Given the description of an element on the screen output the (x, y) to click on. 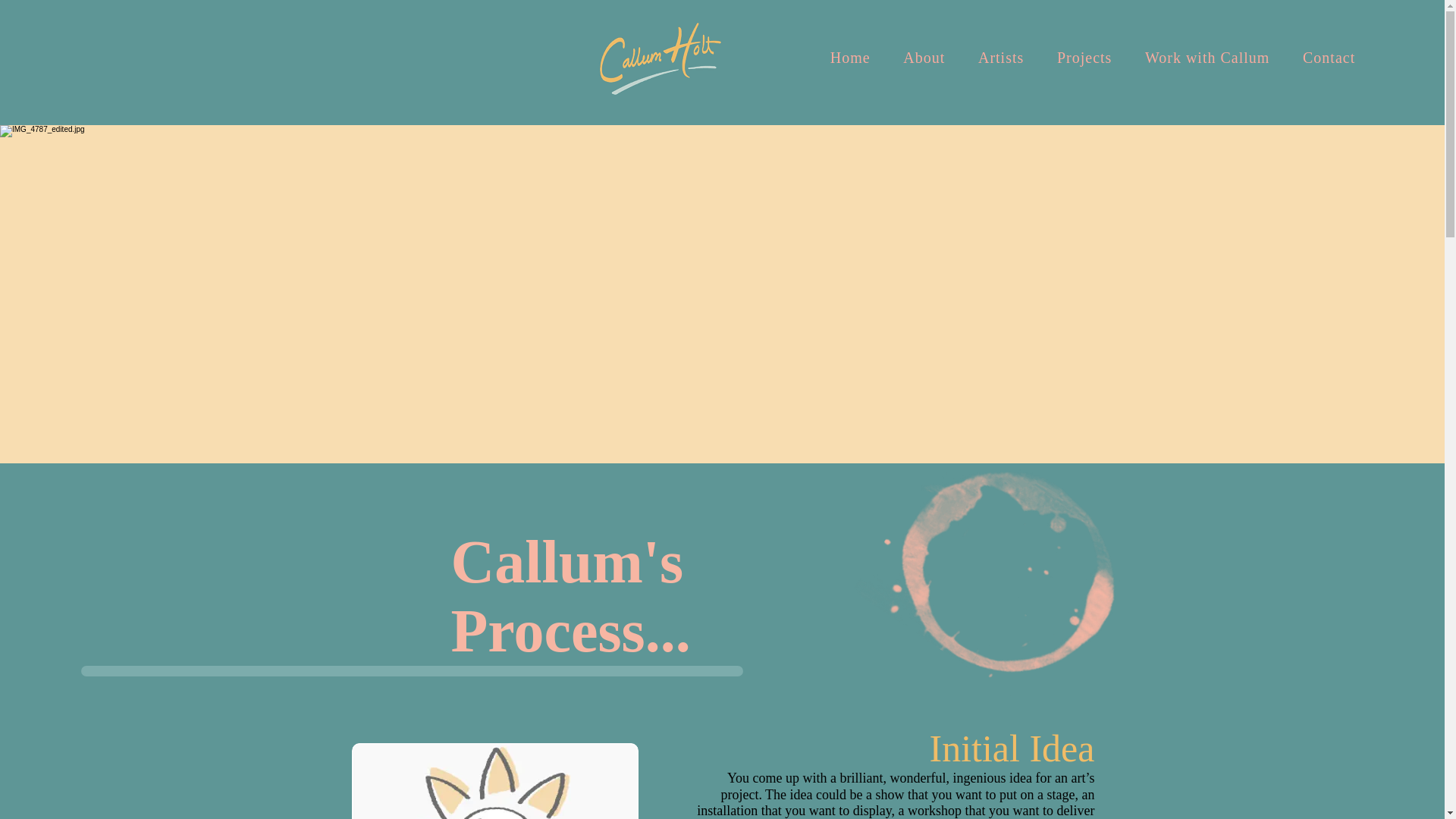
Work with Callum (1206, 57)
Home (849, 57)
About (924, 57)
Contact (1328, 57)
Projects (1084, 57)
Artists (999, 57)
